Given the description of an element on the screen output the (x, y) to click on. 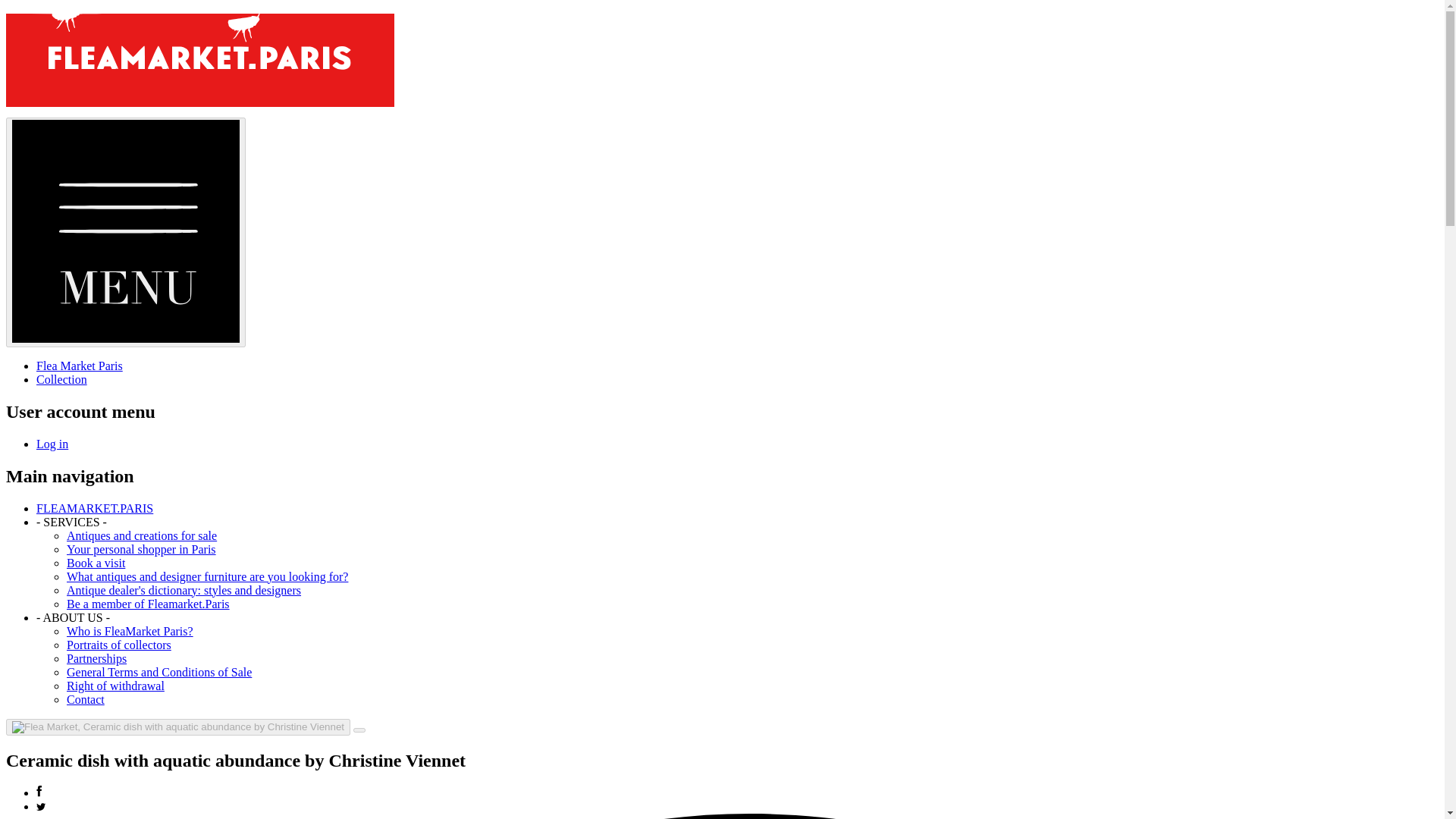
Antique dealer's dictionary: styles and designers (183, 590)
Book a visit (95, 562)
Contact (85, 698)
Antiques and creations for sale (141, 535)
What antiques and designer furniture are you looking for? (206, 576)
FLEAMARKET.PARIS (94, 508)
Your personal shopper in Paris (140, 549)
Portraits of collectors (118, 644)
Who is FleaMarket Paris? (129, 631)
Right of withdrawal (115, 685)
Partnerships (96, 658)
Flea Market Paris (79, 365)
Log in (52, 443)
Be a member of Fleamarket.Paris (148, 603)
Collection (61, 379)
